Given the description of an element on the screen output the (x, y) to click on. 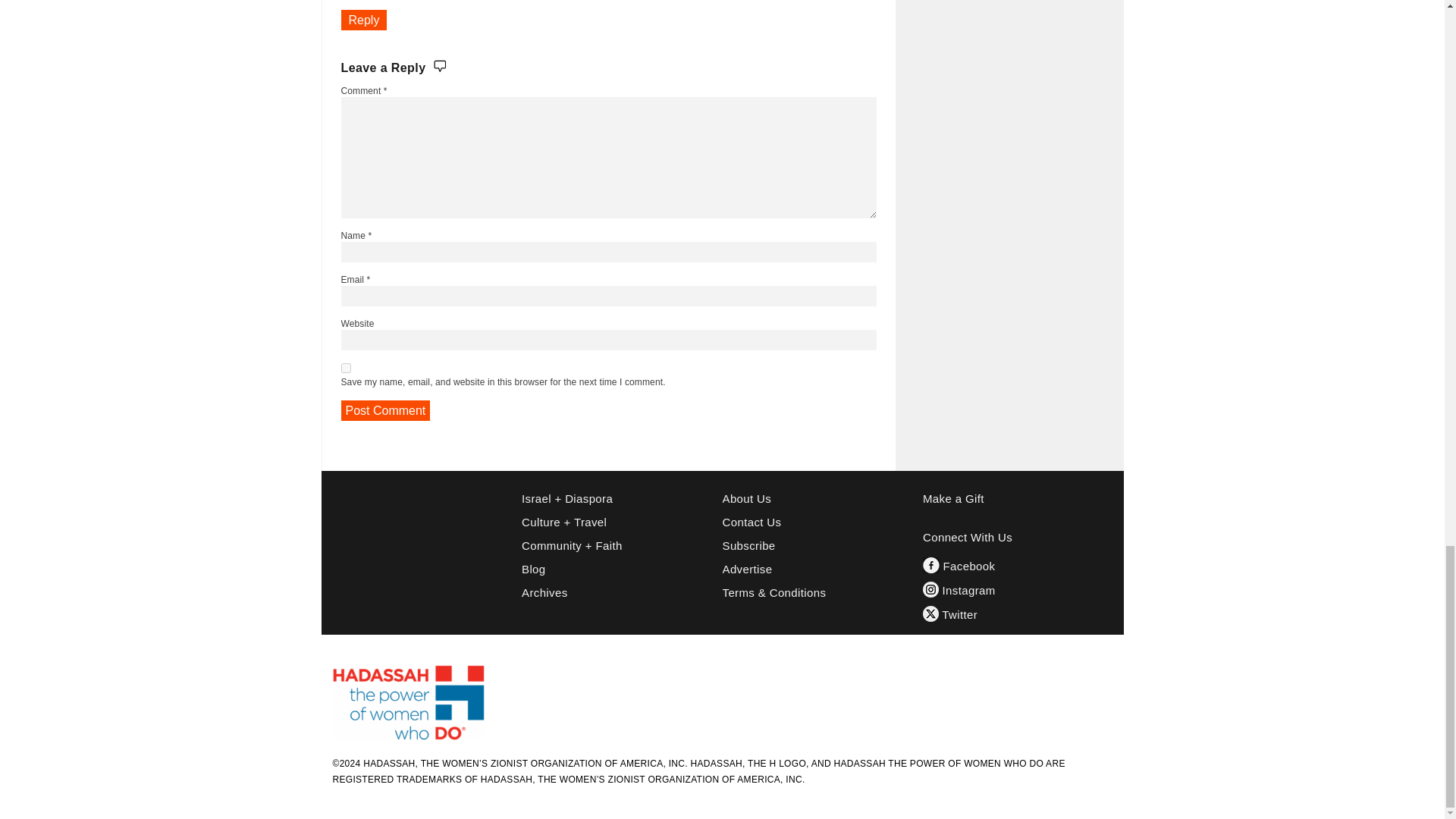
yes (345, 368)
Post Comment (385, 410)
